Given the description of an element on the screen output the (x, y) to click on. 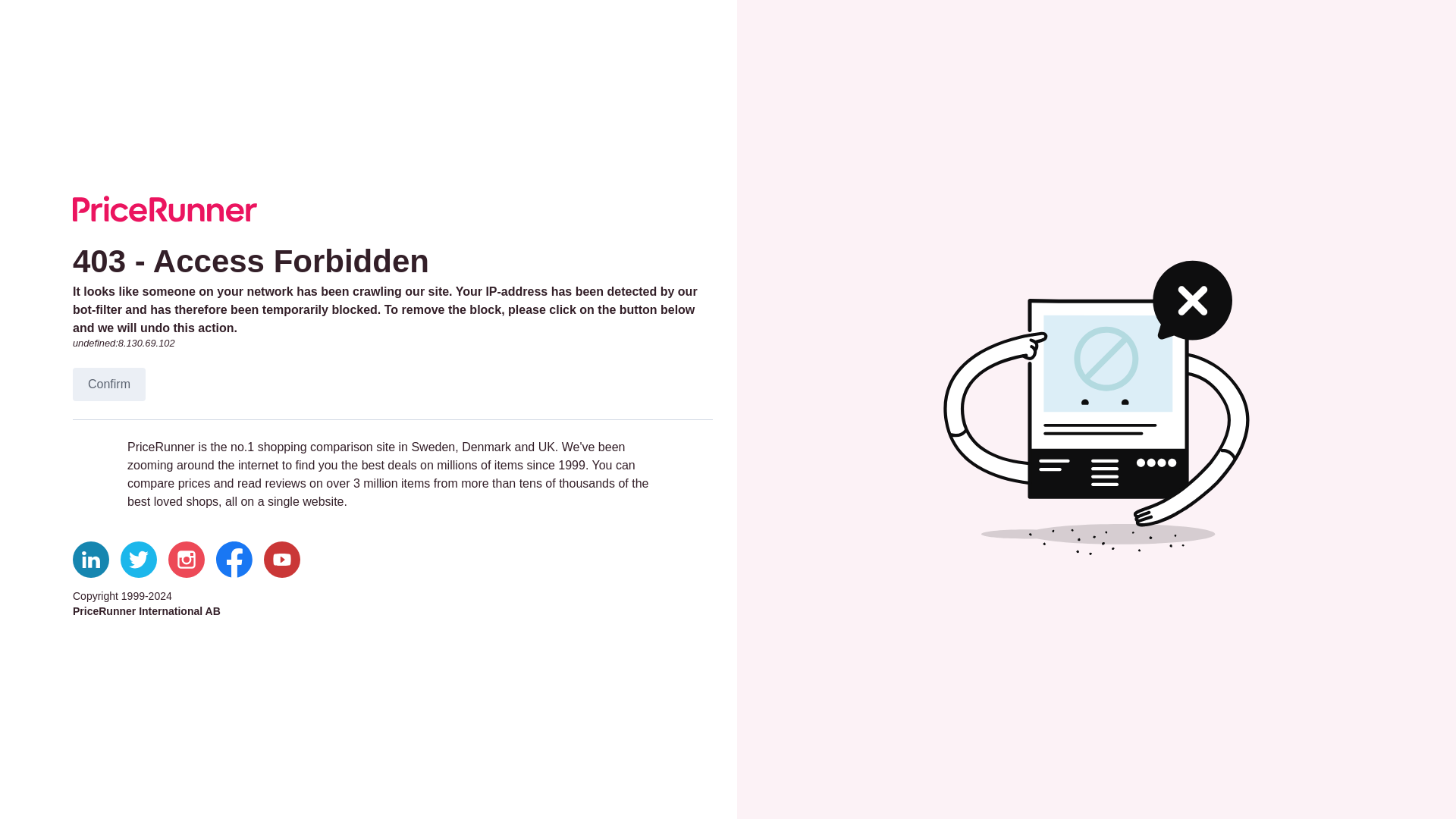
Confirm (108, 384)
Confirm (108, 384)
